Given the description of an element on the screen output the (x, y) to click on. 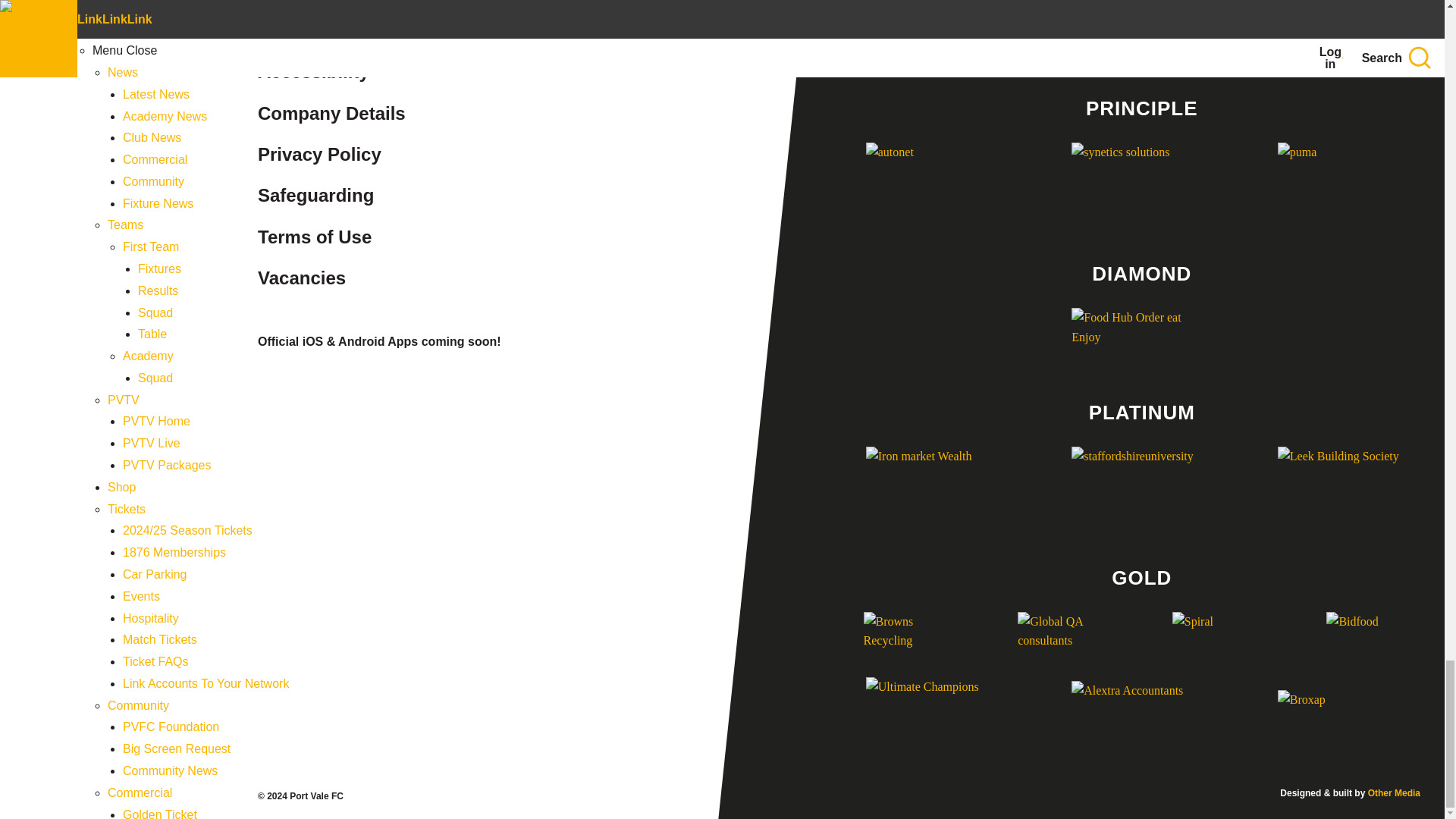
Ironmarket (936, 485)
Foodhub (1141, 333)
Autonet (936, 181)
Staffordshire Uni (1141, 485)
Puma (1348, 181)
Synectics (1141, 181)
